Given the description of an element on the screen output the (x, y) to click on. 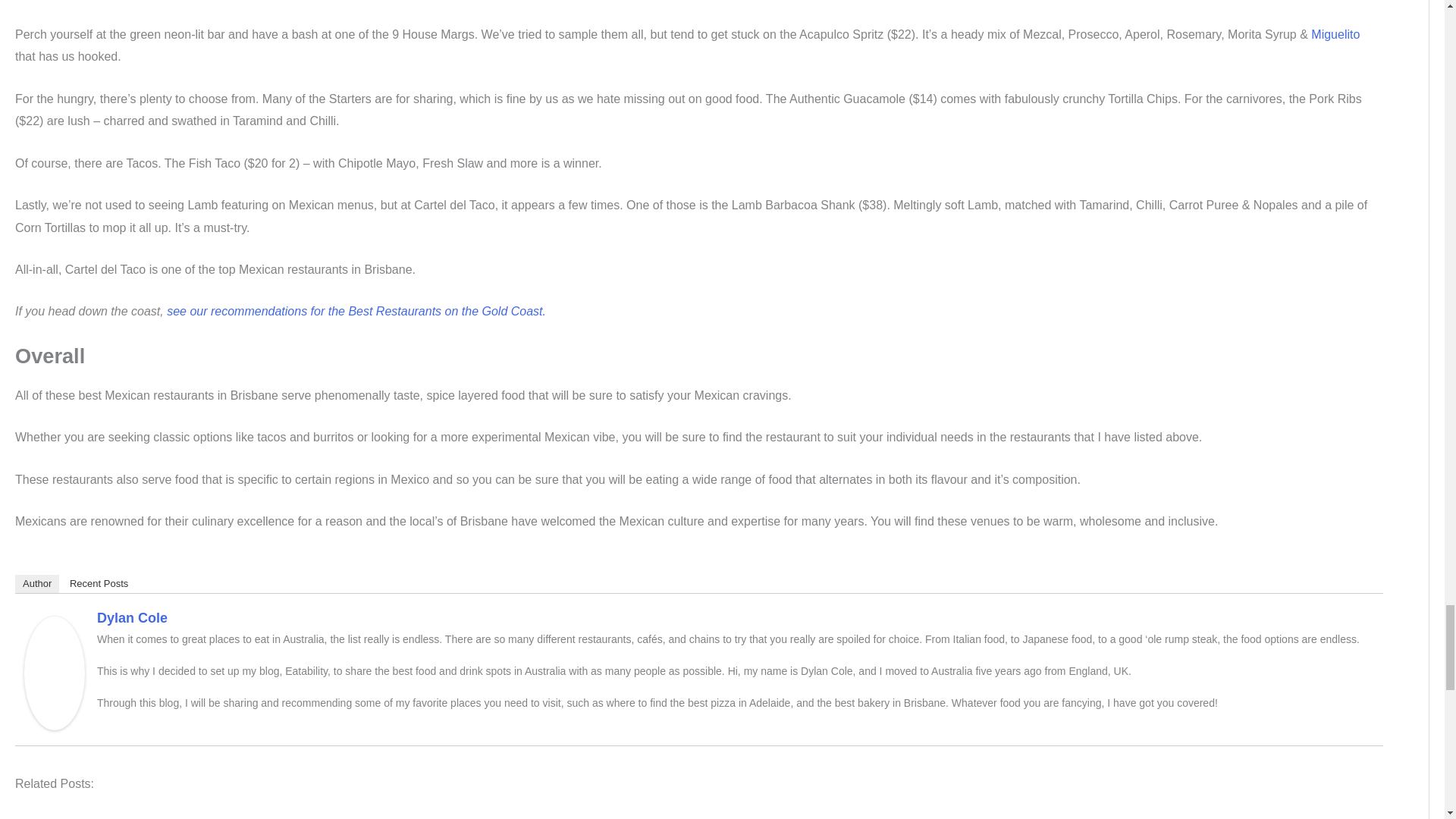
The 15 Best Seafood Restaurants In Brisbane (823, 817)
Dylan Cole (54, 671)
17 Mexican Dessert Recipes (449, 817)
The 15 Best Italian Restaurants In Brisbane (699, 817)
The 15 Best Mexican Restaurants In Melbourne (74, 817)
La Cabra Mexican (574, 817)
The 15 Best Mexican Restaurants In Sydney (199, 817)
The 15 Best Thai Restaurants In Brisbane (949, 817)
20 Mexican Catering Foods Ideas (323, 817)
